Given the description of an element on the screen output the (x, y) to click on. 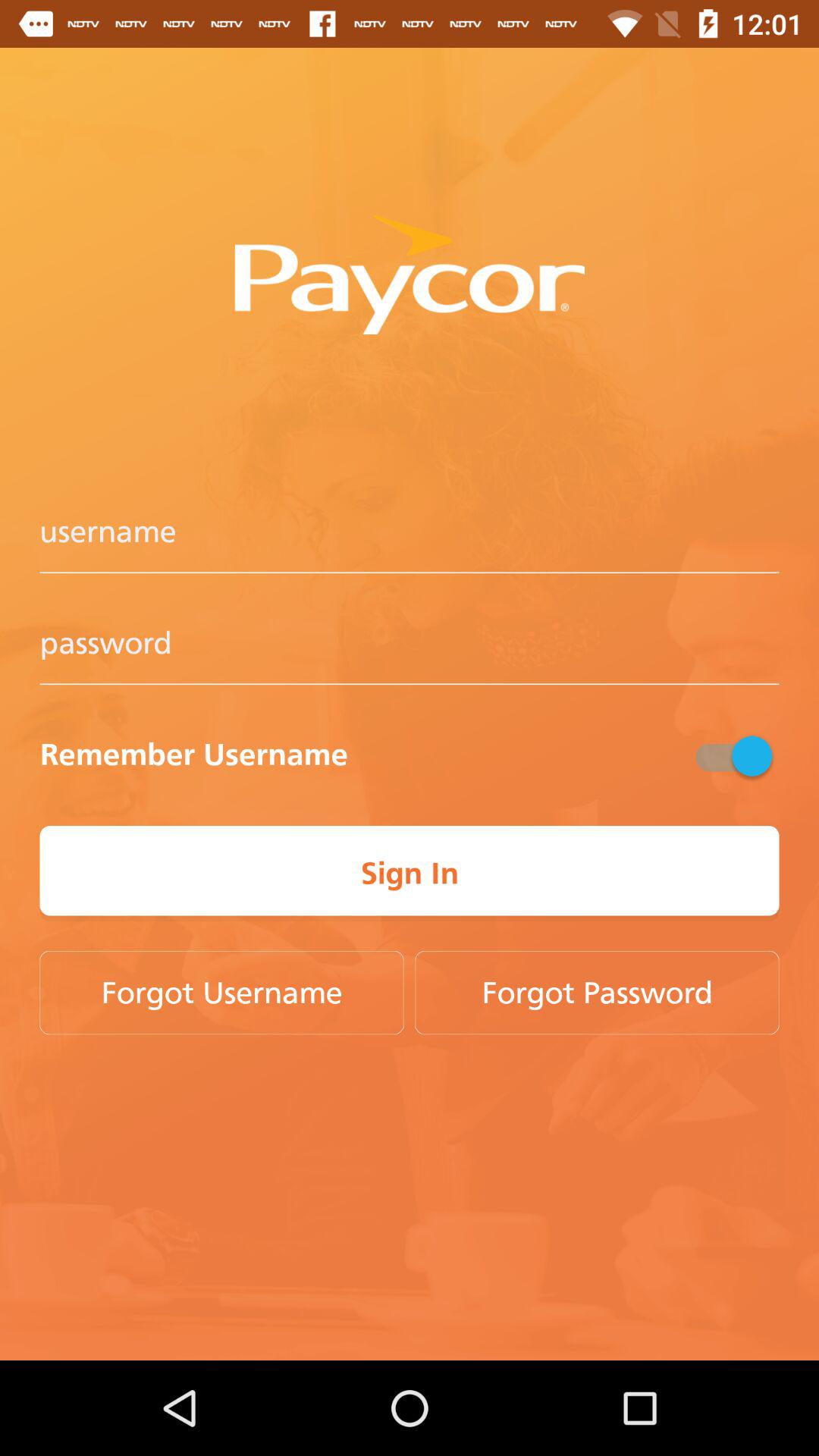
choose the icon above the forgot username item (409, 873)
